Given the description of an element on the screen output the (x, y) to click on. 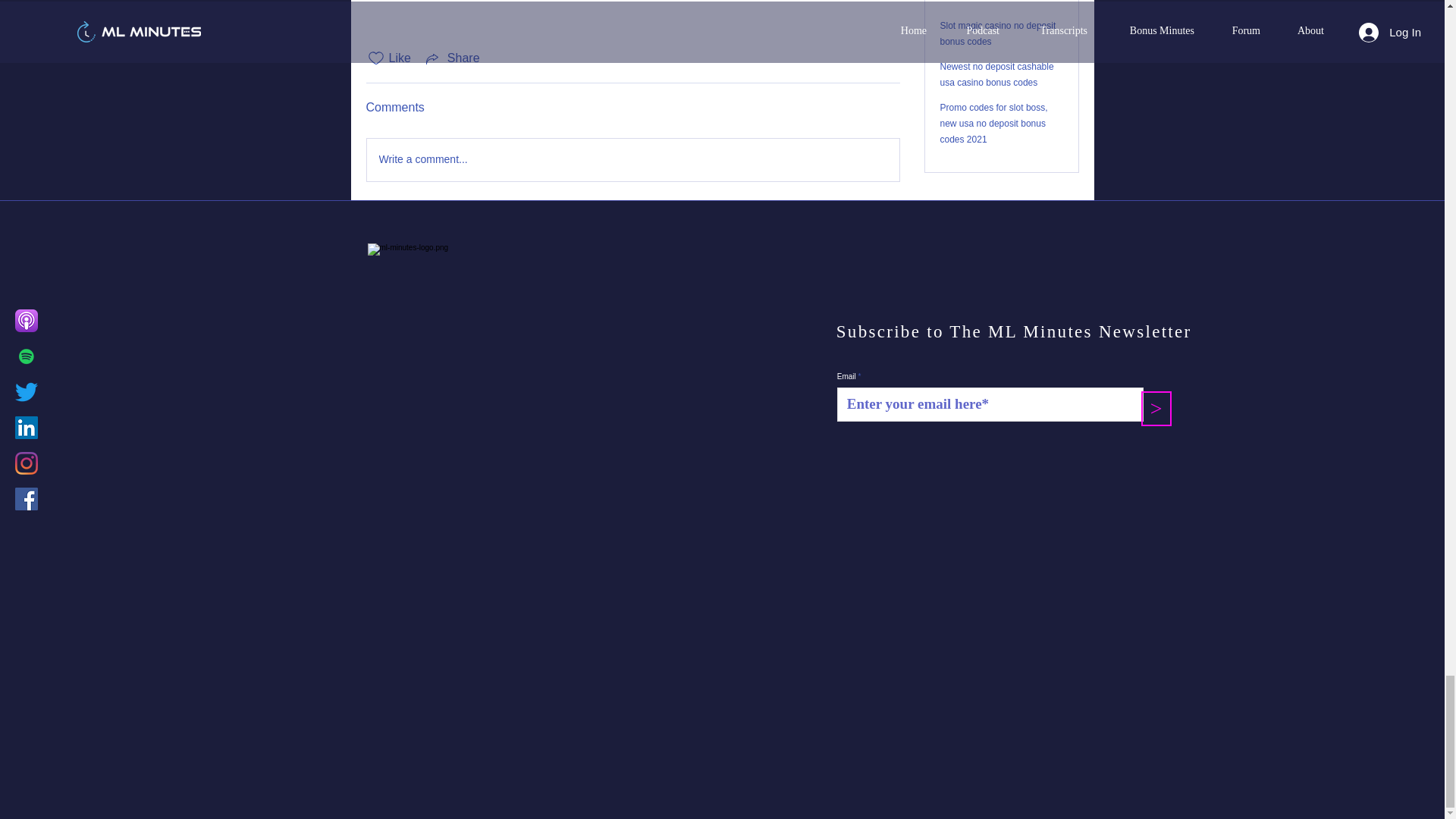
Share (451, 58)
Write a comment... (632, 159)
